Given the description of an element on the screen output the (x, y) to click on. 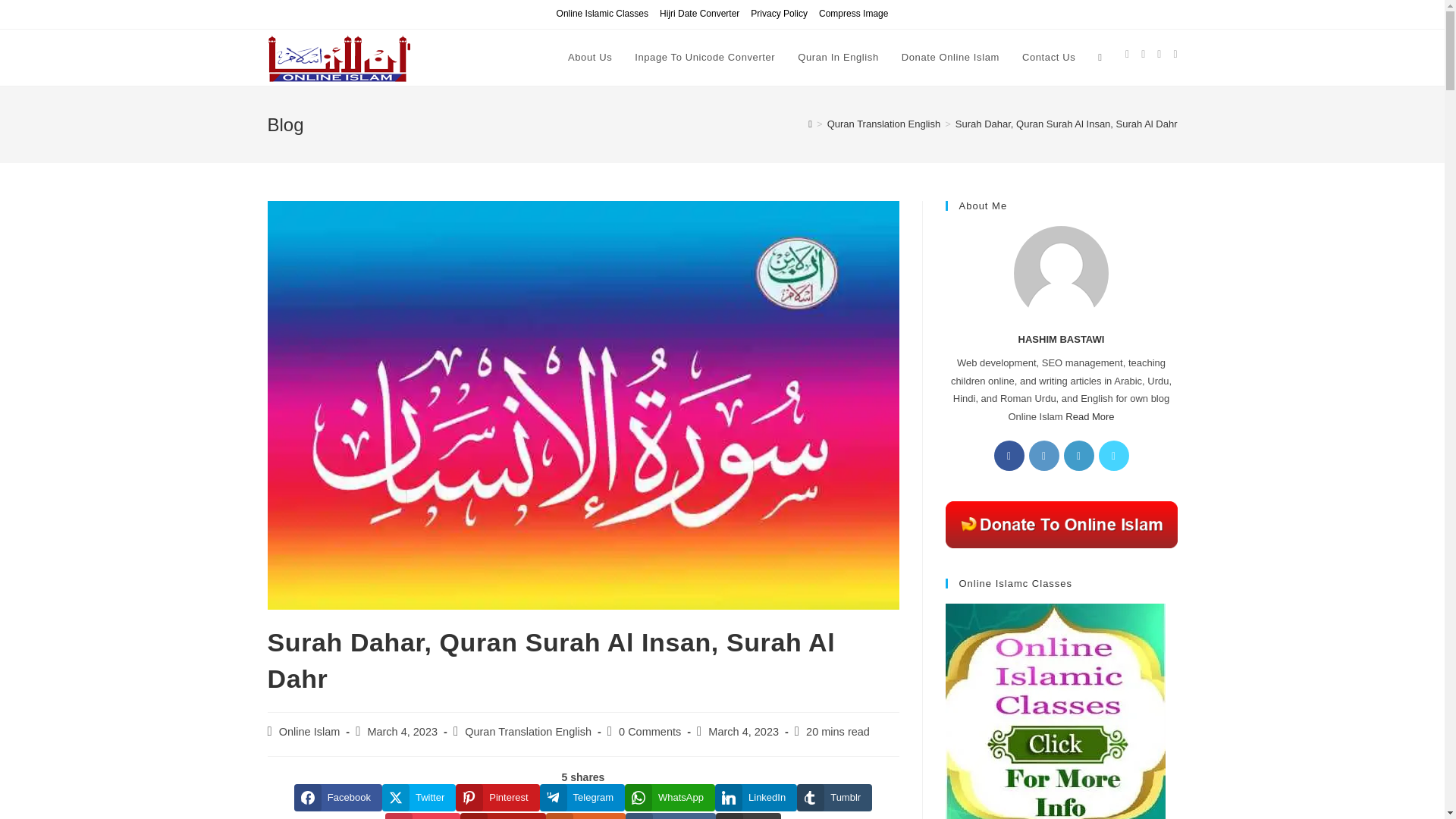
About Us (589, 57)
Twitter (418, 797)
Share on Pinterest (496, 797)
Quran In English (837, 57)
Inpage To Unicode Converter (704, 57)
Hijri Date Converter (699, 13)
Share on Telegram (582, 797)
Quran Translation English (883, 123)
Online Islamic Classes (601, 13)
Share on Twitter (418, 797)
